Given the description of an element on the screen output the (x, y) to click on. 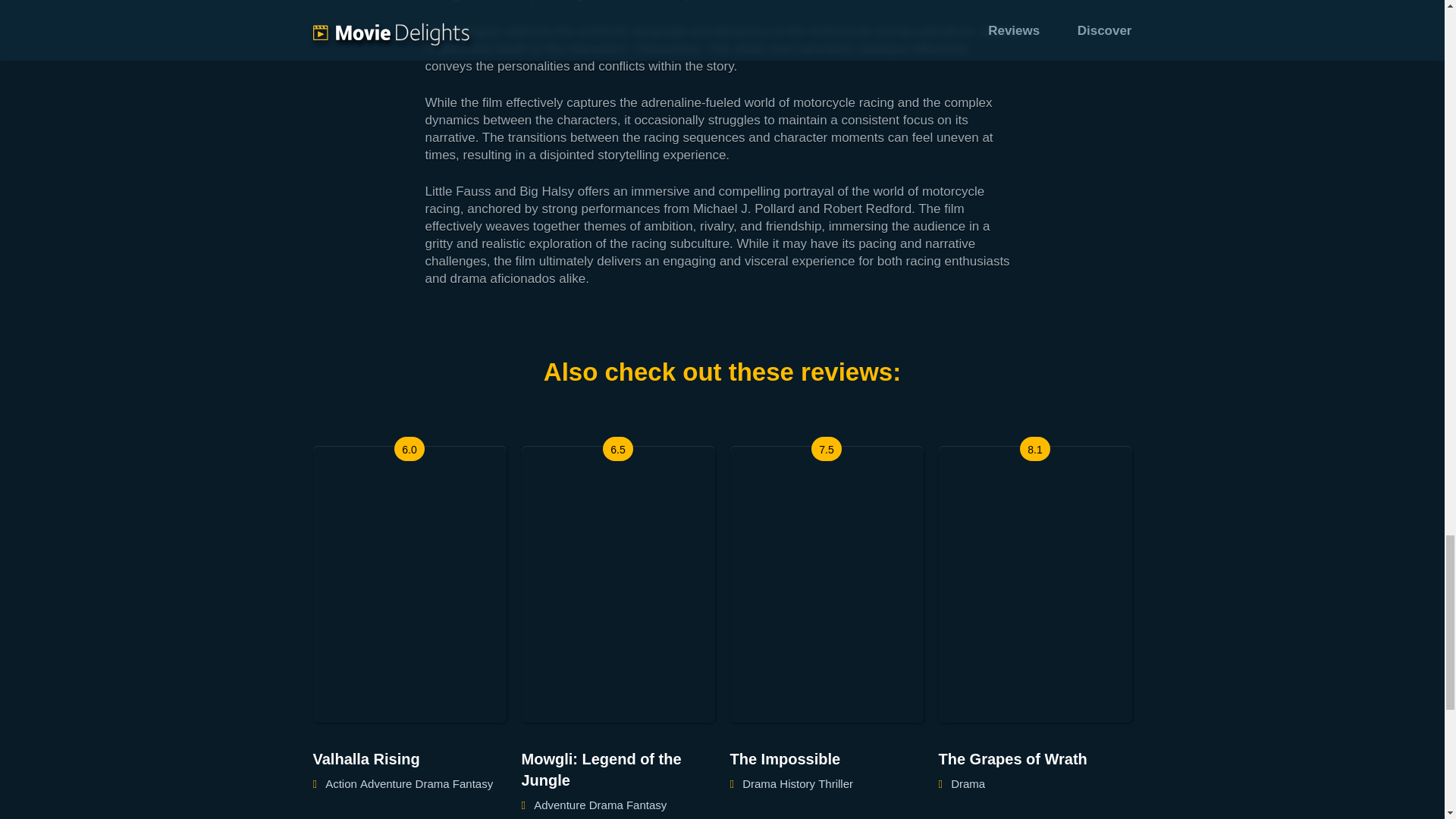
 genre movie reviews (431, 783)
Drama (431, 783)
The Impossible (826, 758)
 genre movie reviews (646, 805)
Thriller (835, 783)
Adventure (385, 783)
 genre movie reviews (472, 783)
The Impossible movie review (826, 758)
The Grapes of Wrath (1035, 758)
 genre movie reviews (606, 805)
Valhalla Rising movie review (409, 758)
Mowgli: Legend of the Jungle (617, 769)
 genre movie reviews (835, 783)
Valhalla Rising (409, 758)
 genre movie reviews (796, 783)
